Given the description of an element on the screen output the (x, y) to click on. 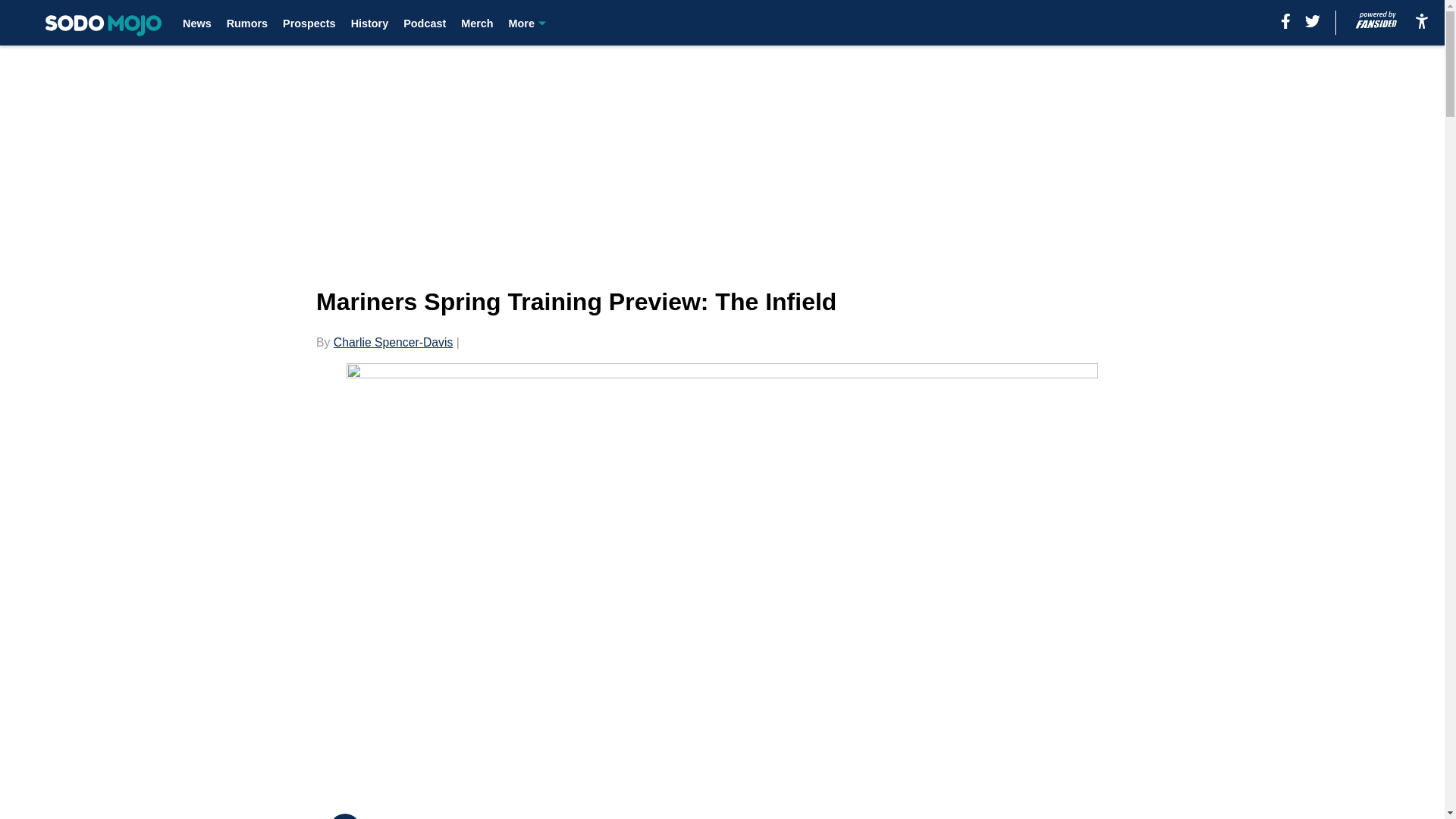
Charlie Spencer-Davis (392, 341)
Rumors (247, 23)
Podcast (424, 23)
History (369, 23)
Merch (477, 23)
Prospects (309, 23)
News (197, 23)
